Given the description of an element on the screen output the (x, y) to click on. 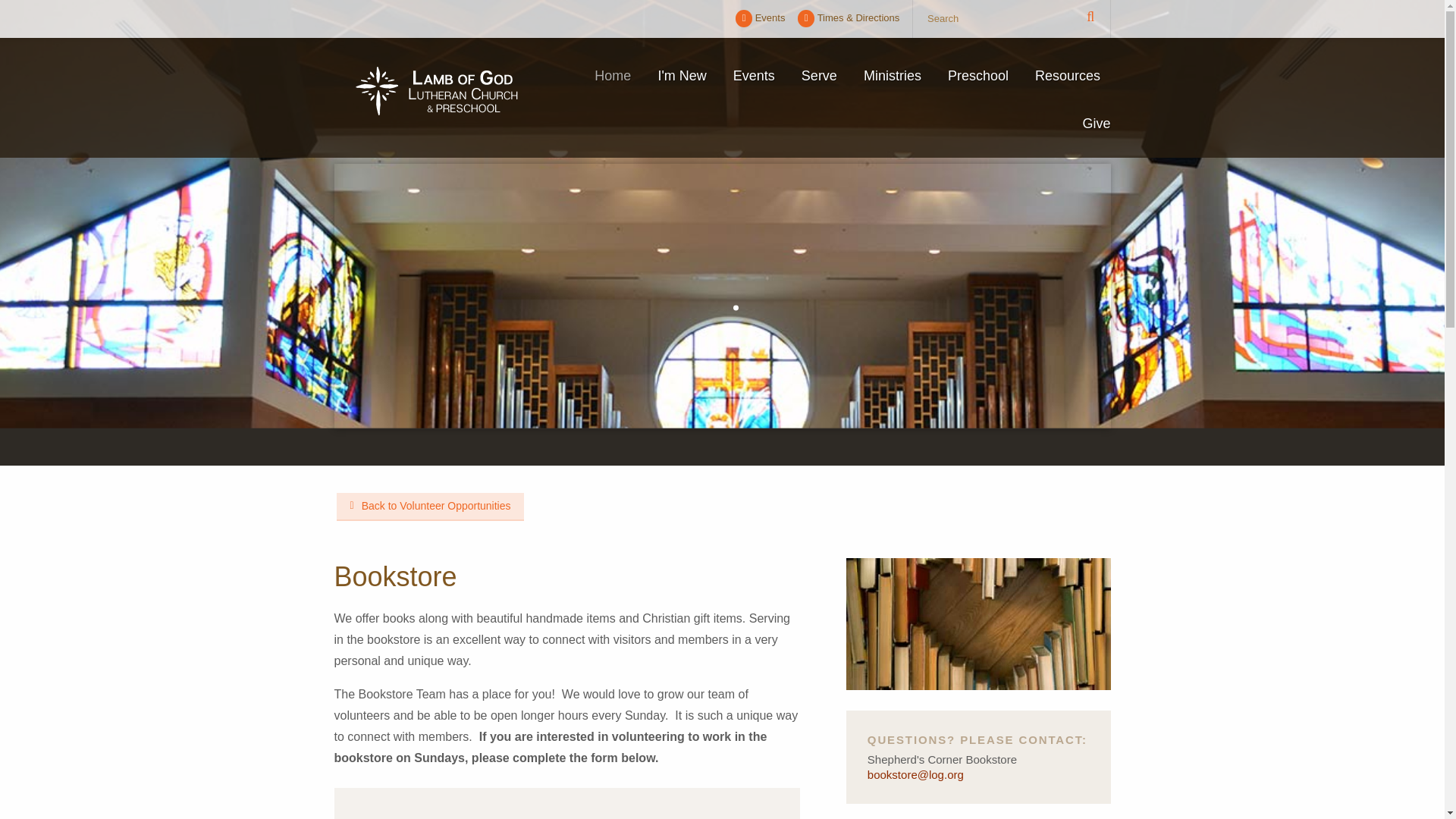
Events (760, 18)
Events (753, 85)
Events (760, 18)
Ministries (892, 85)
I'm New (681, 85)
Home (613, 85)
search (1010, 18)
Serve (818, 85)
